Given the description of an element on the screen output the (x, y) to click on. 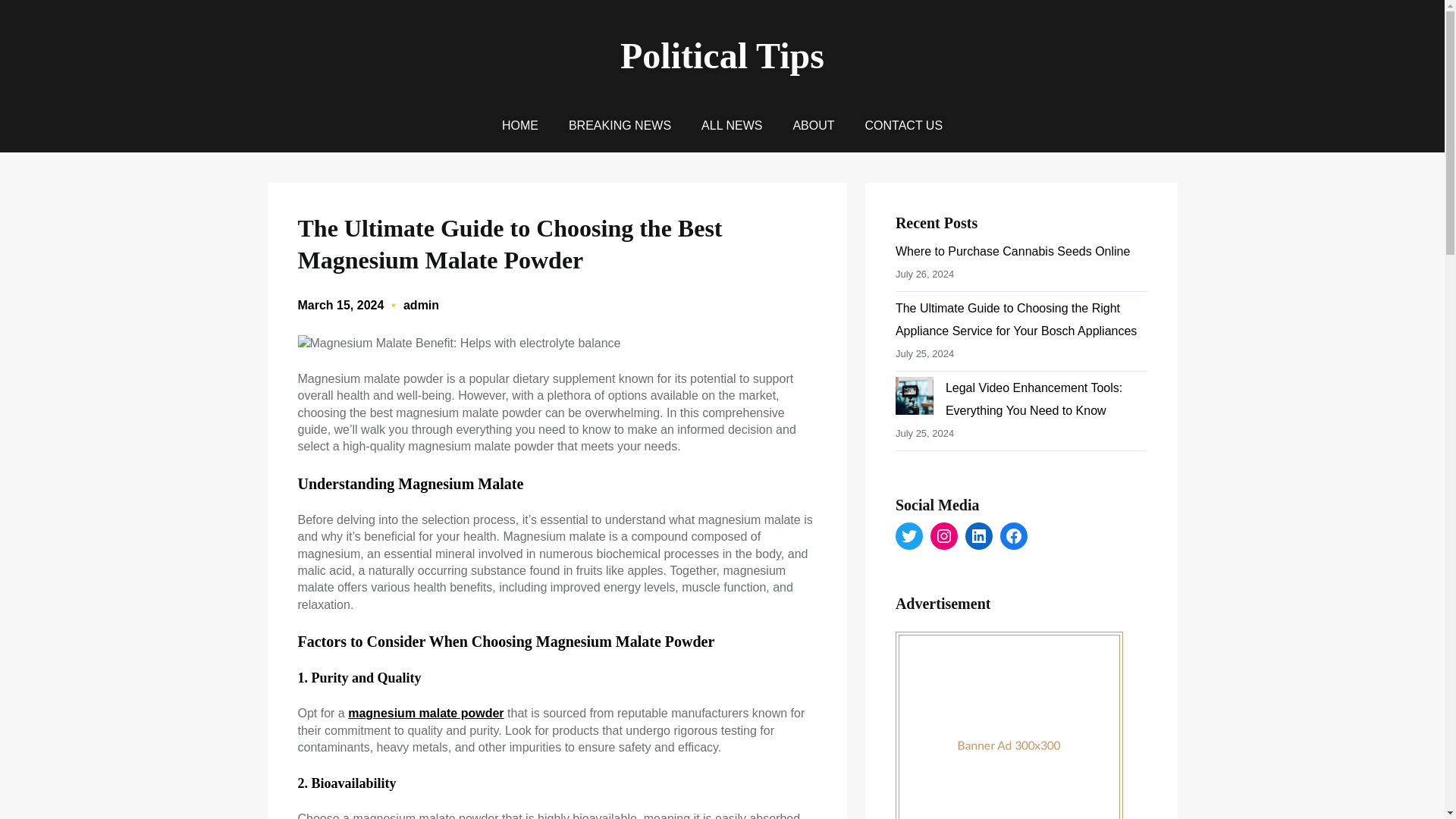
admin (421, 305)
LinkedIn (978, 535)
Legal Video Enhancement Tools: Everything You Need to Know (1033, 398)
Facebook (1013, 535)
Twitter (909, 535)
ABOUT (813, 125)
Political Tips (722, 56)
CONTACT US (903, 125)
magnesium malate powder (425, 712)
Where to Purchase Cannabis Seeds Online (1013, 250)
BREAKING NEWS (620, 125)
Instagram (944, 535)
HOME (520, 125)
ALL NEWS (731, 125)
